Given the description of an element on the screen output the (x, y) to click on. 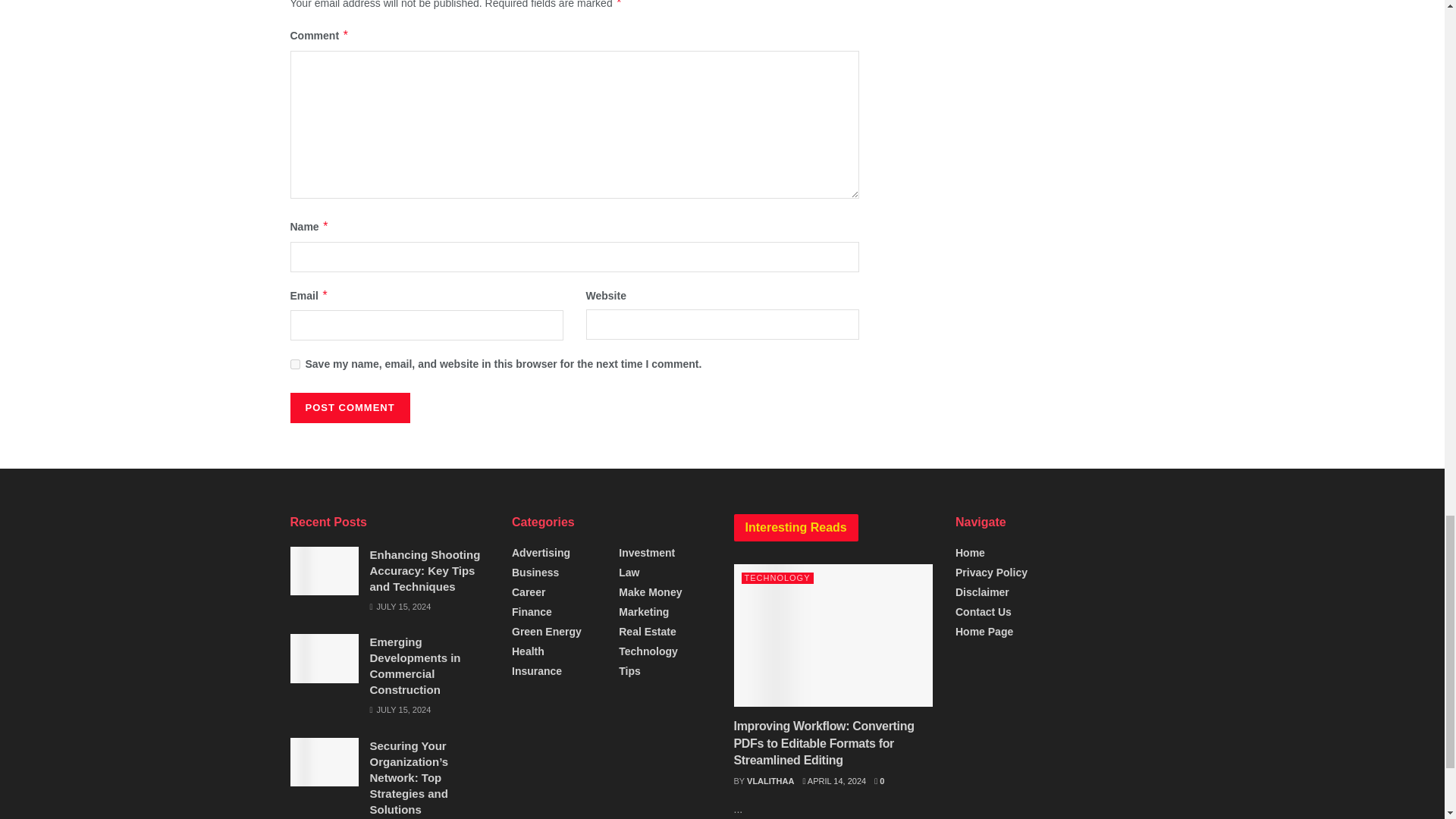
Post Comment (349, 408)
yes (294, 364)
Post Comment (349, 408)
